Given the description of an element on the screen output the (x, y) to click on. 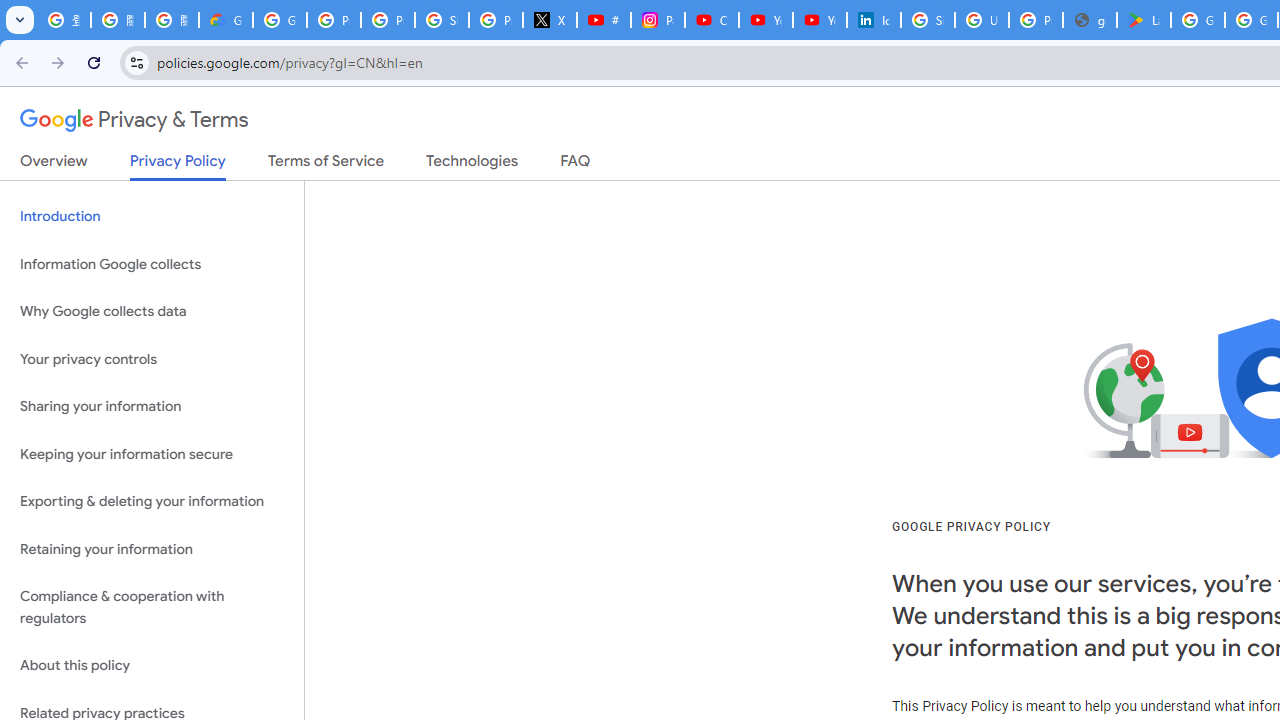
About this policy (152, 666)
FAQ (575, 165)
Last Shelter: Survival - Apps on Google Play (1144, 20)
Sharing your information (152, 407)
Exporting & deleting your information (152, 502)
Sign in - Google Accounts (927, 20)
Identity verification via Persona | LinkedIn Help (874, 20)
Compliance & cooperation with regulators (152, 607)
